Given the description of an element on the screen output the (x, y) to click on. 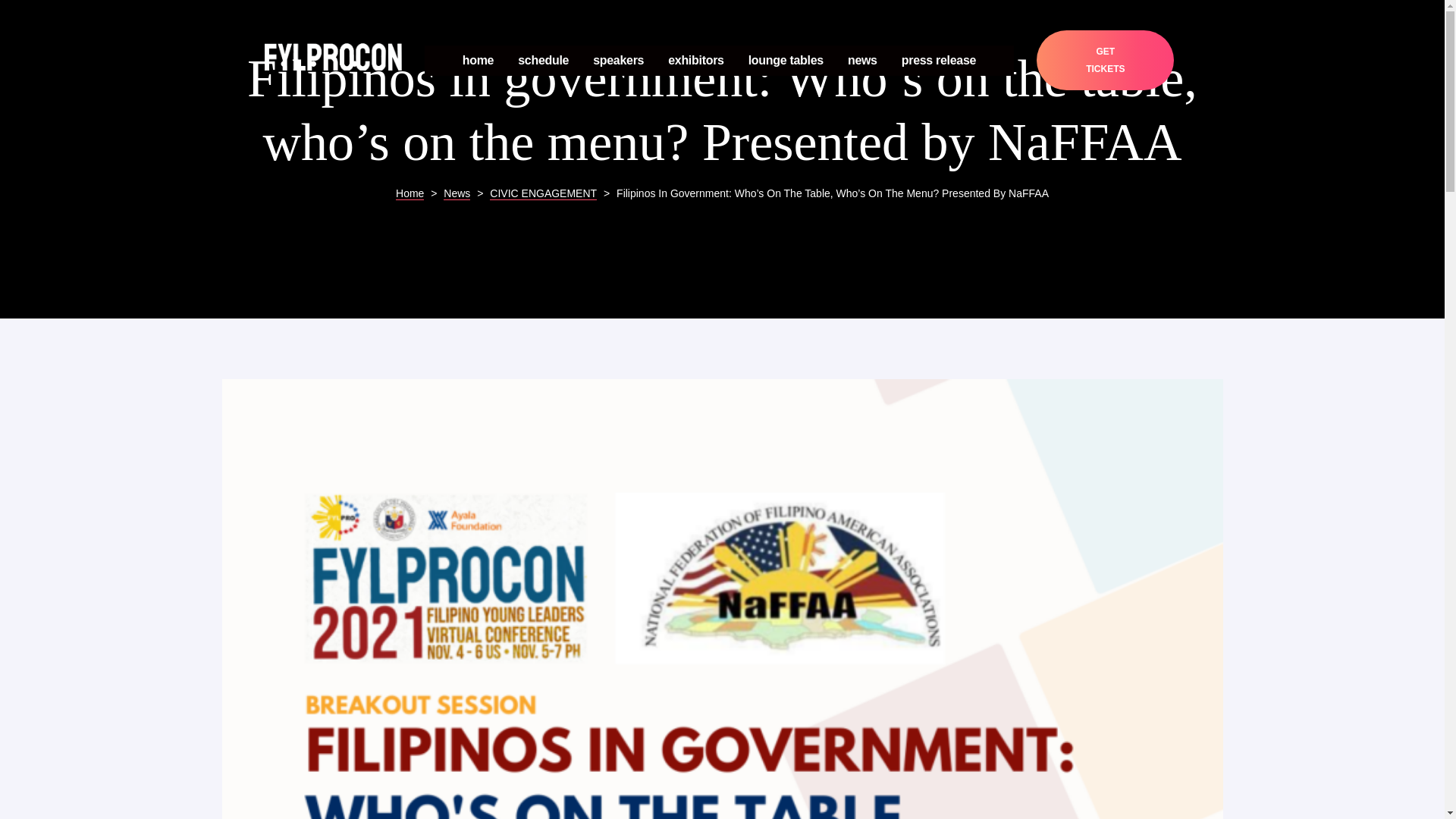
news (862, 60)
home (478, 60)
CIVIC ENGAGEMENT (542, 193)
exhibitors (695, 60)
schedule (543, 60)
News (457, 193)
press release (938, 60)
speakers (617, 60)
Go to News. (457, 193)
GET TICKETS (1104, 60)
Home (409, 193)
Go to the CIVIC ENGAGEMENT category archives. (542, 193)
lounge tables (786, 60)
Go to FYLPROCon. (409, 193)
